Given the description of an element on the screen output the (x, y) to click on. 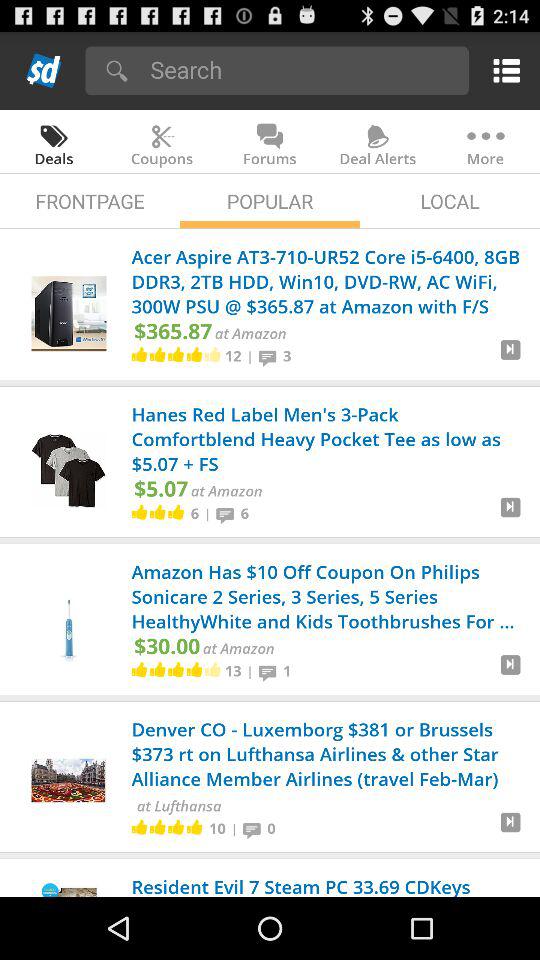
launch the app next to 13 icon (249, 671)
